Given the description of an element on the screen output the (x, y) to click on. 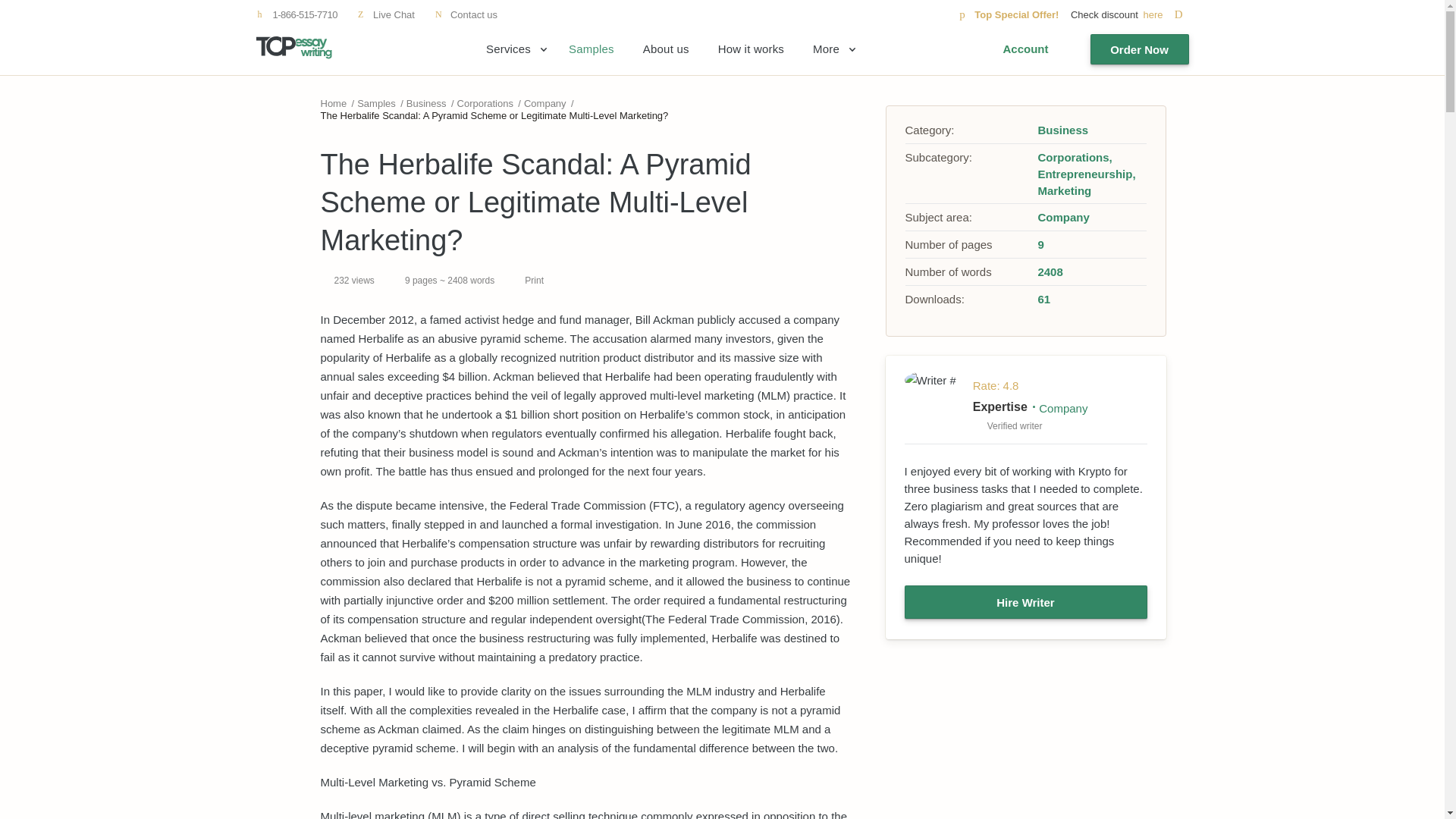
Business (1061, 130)
Home (333, 102)
here (1165, 14)
About us (665, 49)
1-866-515-7710 (296, 14)
Business (426, 102)
How it works (750, 49)
Corporations (485, 102)
Print (527, 280)
Live Chat (385, 14)
Order Now (1139, 49)
Contact us (465, 14)
Account (1025, 49)
Samples (376, 102)
Company (545, 102)
